Given the description of an element on the screen output the (x, y) to click on. 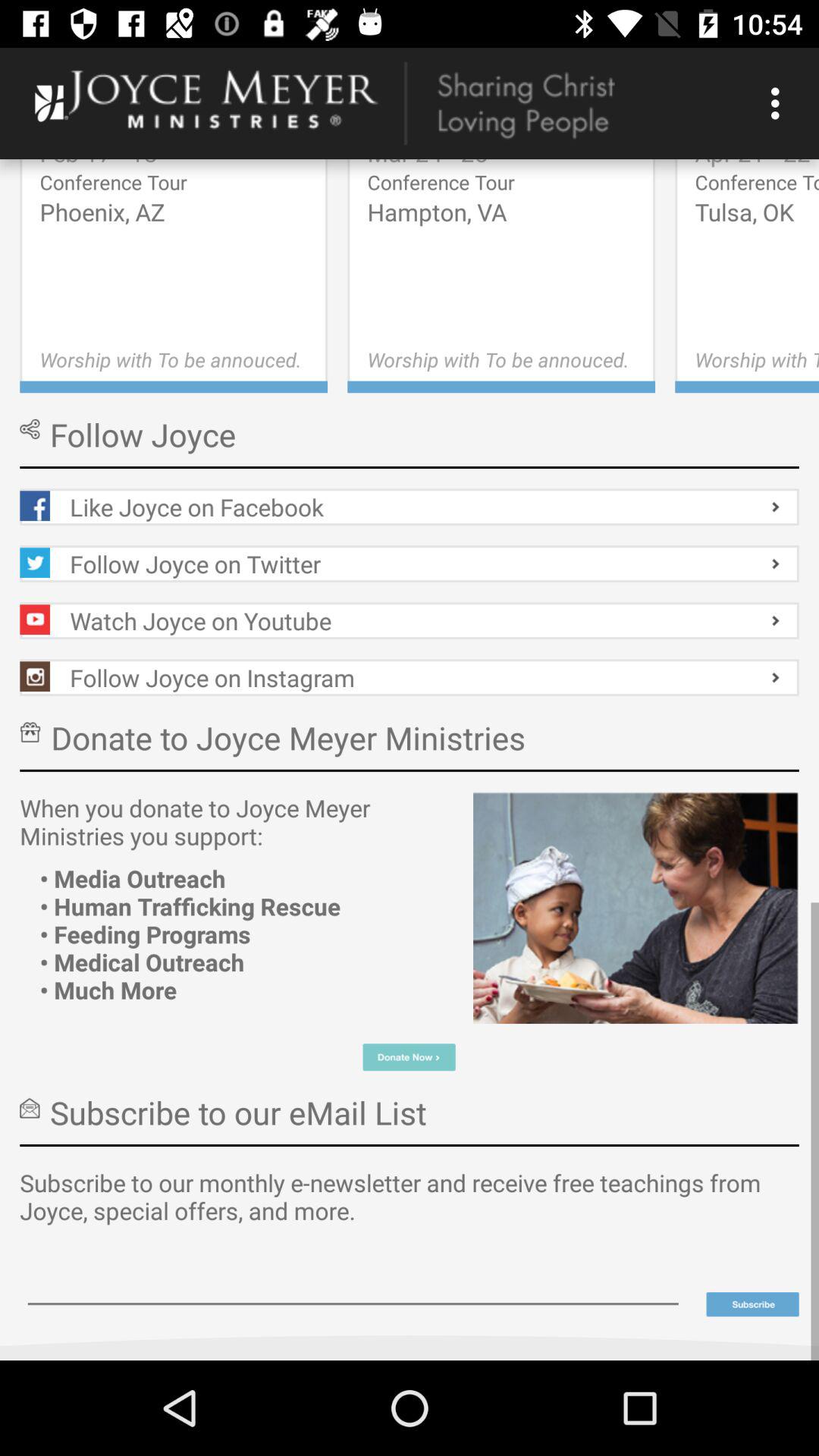
subscribe to email list (752, 1304)
